Given the description of an element on the screen output the (x, y) to click on. 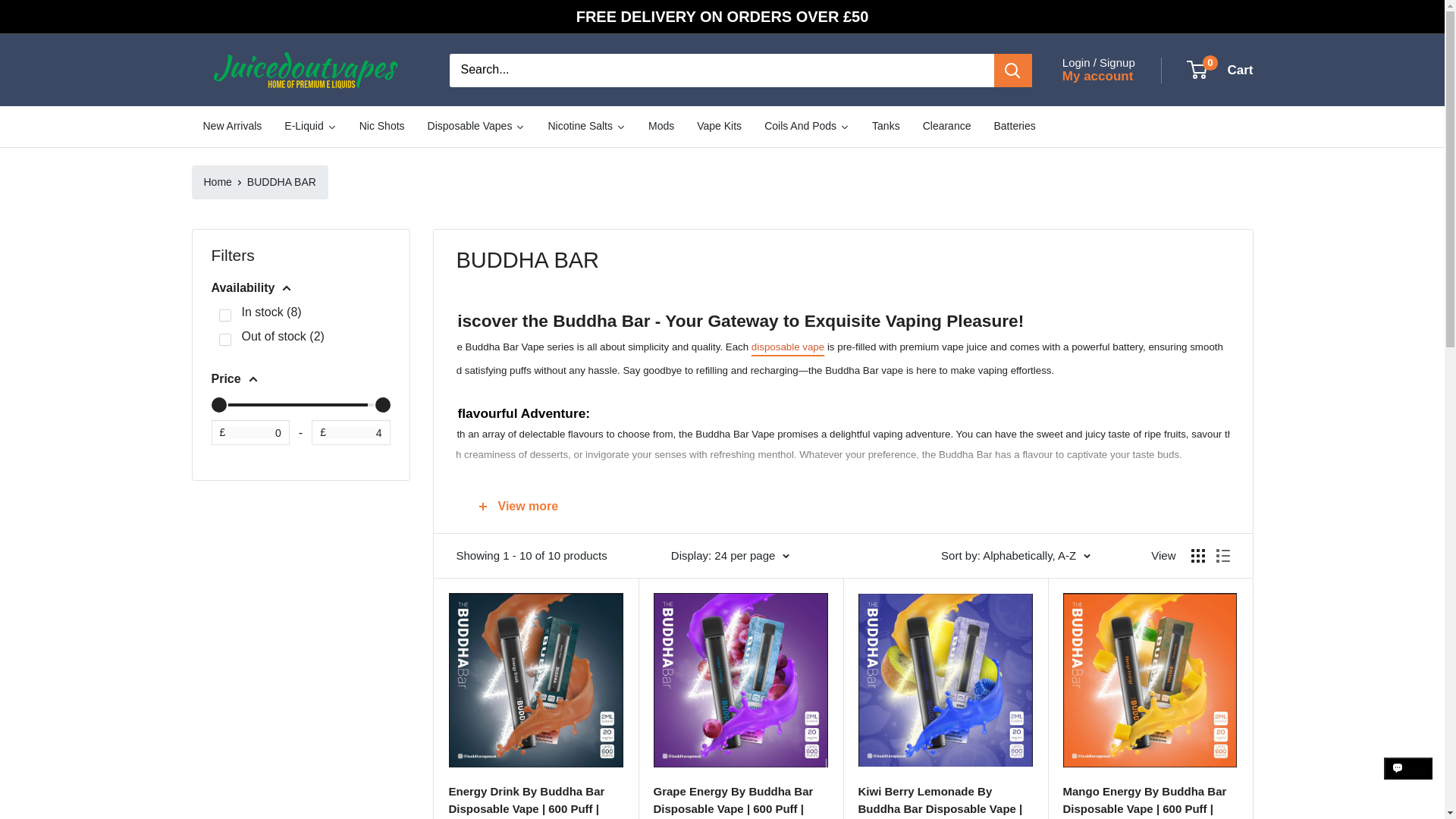
Clearance (946, 126)
New Arrivals (231, 126)
Nicotine Salts (586, 126)
Shopify online store chat (1408, 781)
Coils And Pods (806, 126)
0 (224, 339)
1 (224, 315)
Vape Kits (718, 126)
Mods (661, 126)
Nic Shots (381, 126)
0 (300, 404)
4 (300, 404)
Batteries (1013, 126)
Tanks (885, 126)
E-Liquid (310, 126)
